Given the description of an element on the screen output the (x, y) to click on. 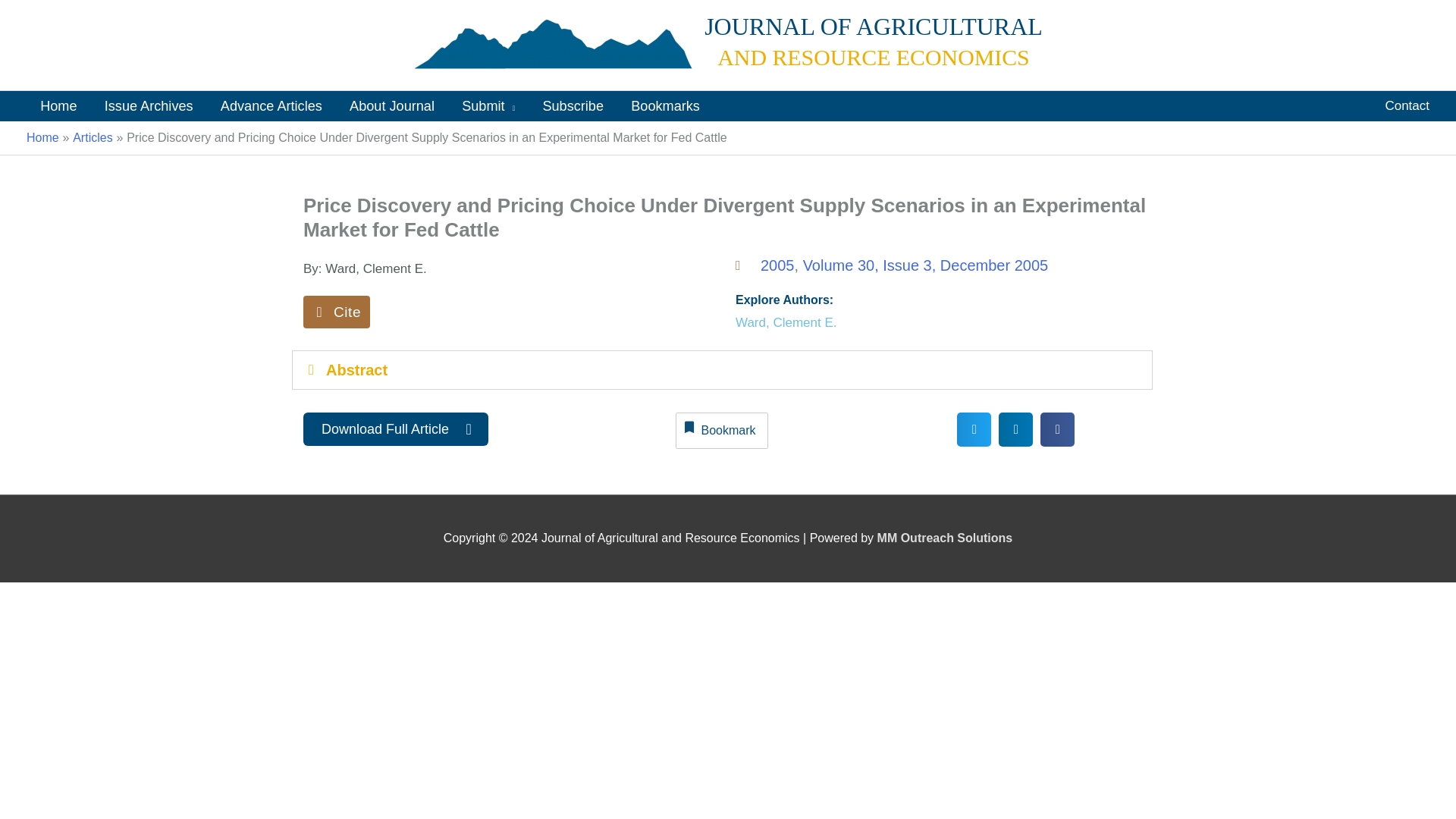
Home (42, 137)
JOURNAL OF AGRICULTURAL (873, 26)
Contact (1406, 105)
Subscribe (572, 105)
Submit (488, 105)
Ward, Clement E. (786, 322)
Articles (92, 137)
Issue Archives (148, 105)
About Journal (392, 105)
Home (58, 105)
Advance Articles (271, 105)
Bookmarks (665, 105)
Volume 30, Issue 3, December 2005 (925, 265)
Download Full Article (394, 428)
MM Outreach Solutions (945, 537)
